Given the description of an element on the screen output the (x, y) to click on. 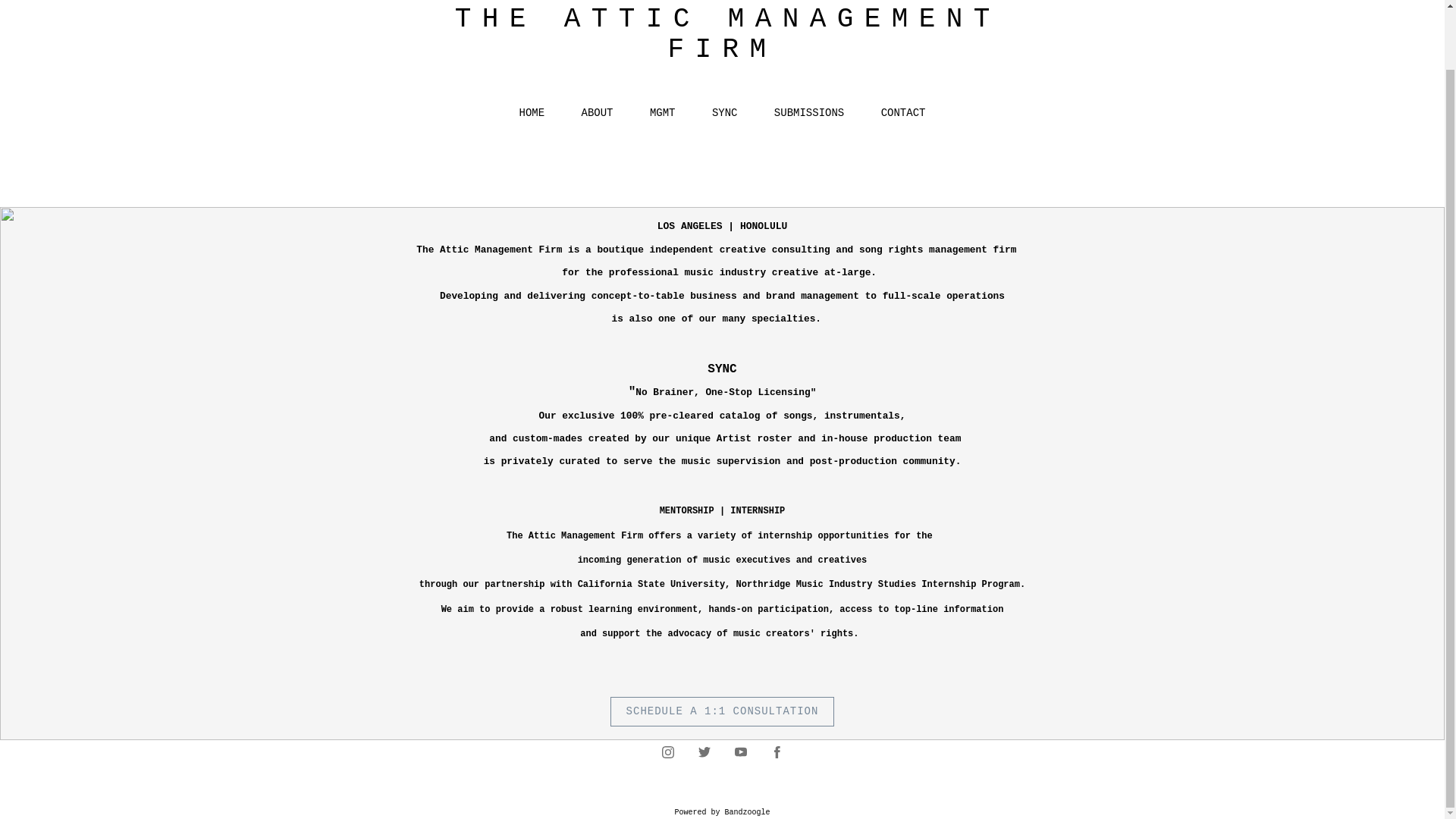
SYNC (724, 112)
Powered by Bandzoogle (722, 812)
THE ATTIC MANAGEMENT FIRM (722, 34)
SUBMISSIONS (809, 112)
SCHEDULE A 1:1 CONSULTATION (722, 711)
ABOUT (596, 112)
CONTACT (903, 112)
Powered by Bandzoogle (722, 812)
MGMT (662, 112)
HOME (531, 112)
